Given the description of an element on the screen output the (x, y) to click on. 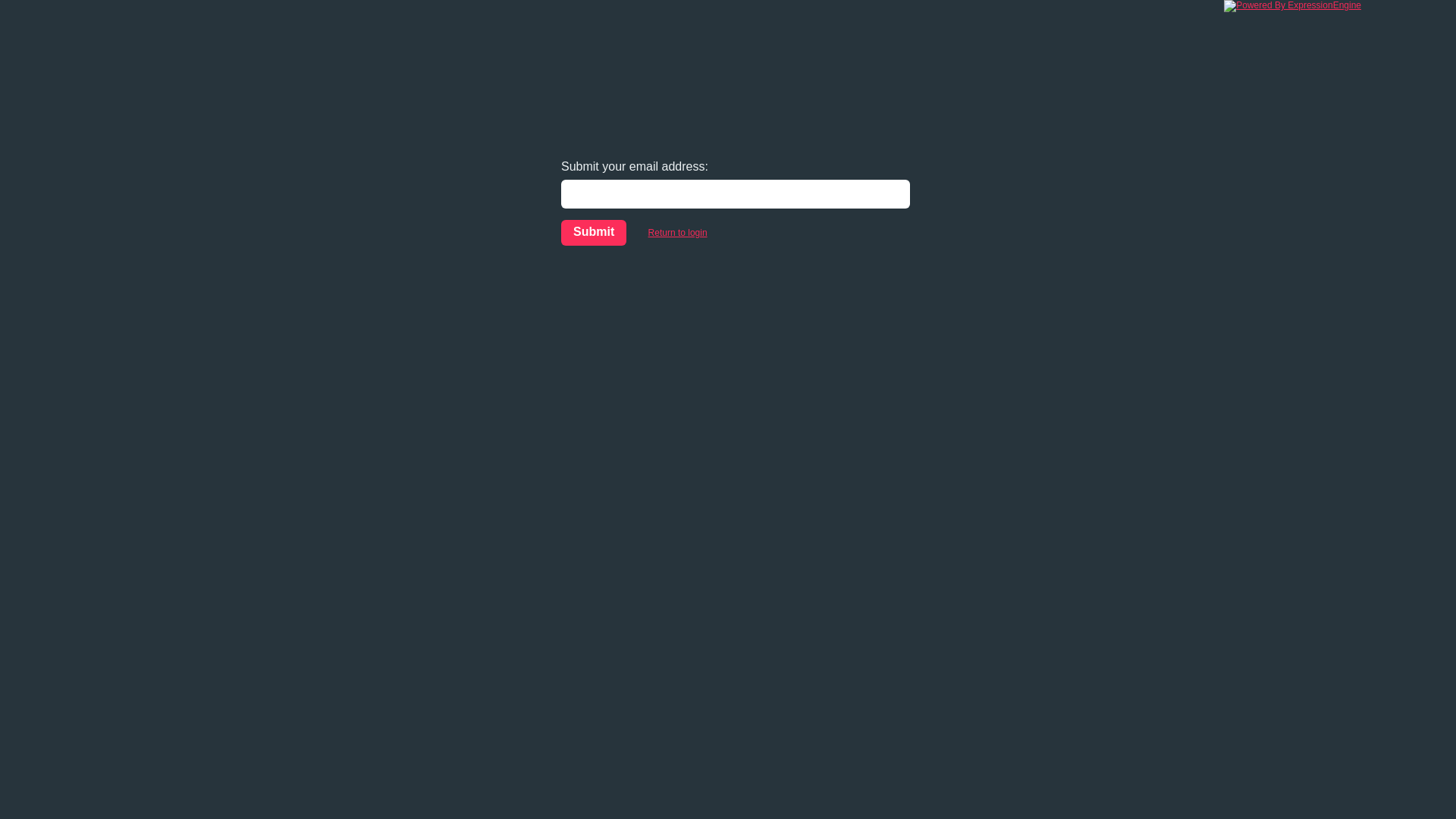
Return to login Element type: text (677, 232)
Submit Element type: text (593, 232)
